Given the description of an element on the screen output the (x, y) to click on. 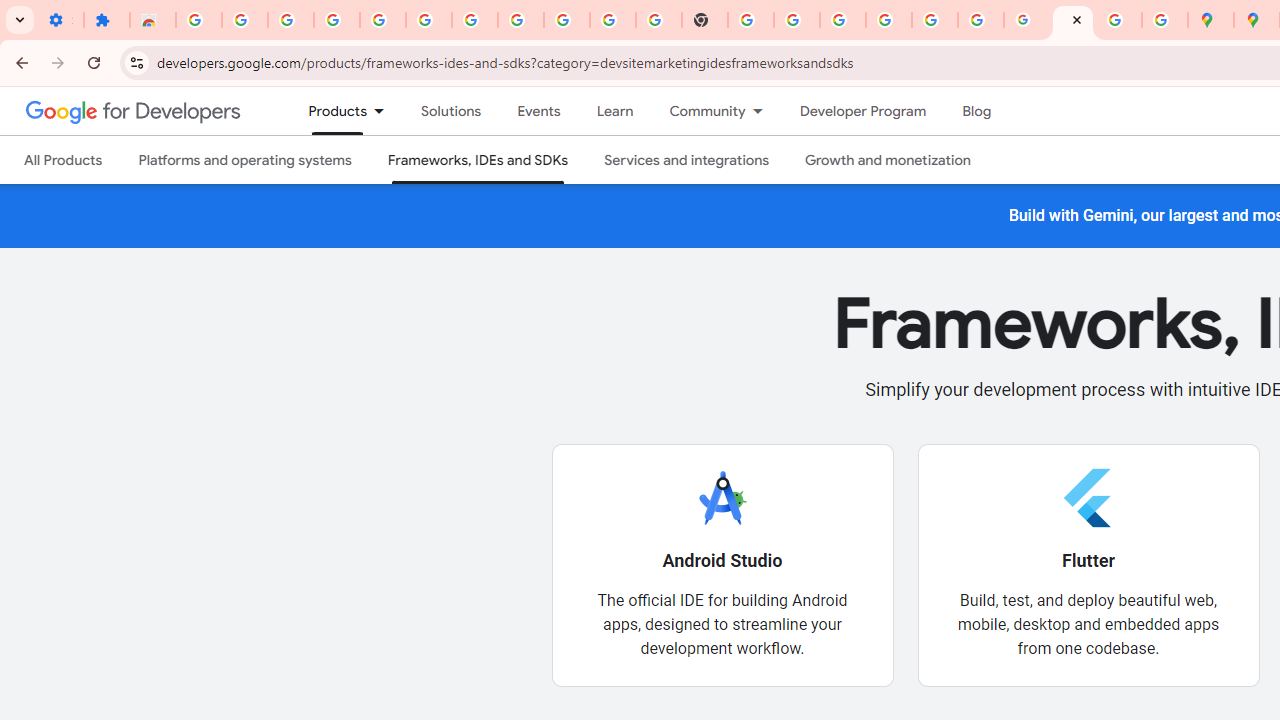
Sign in - Google Accounts (198, 20)
https://scholar.google.com/ (751, 20)
Community (698, 111)
Growth and monetization (888, 160)
Dropdown menu for Community (763, 111)
